Given the description of an element on the screen output the (x, y) to click on. 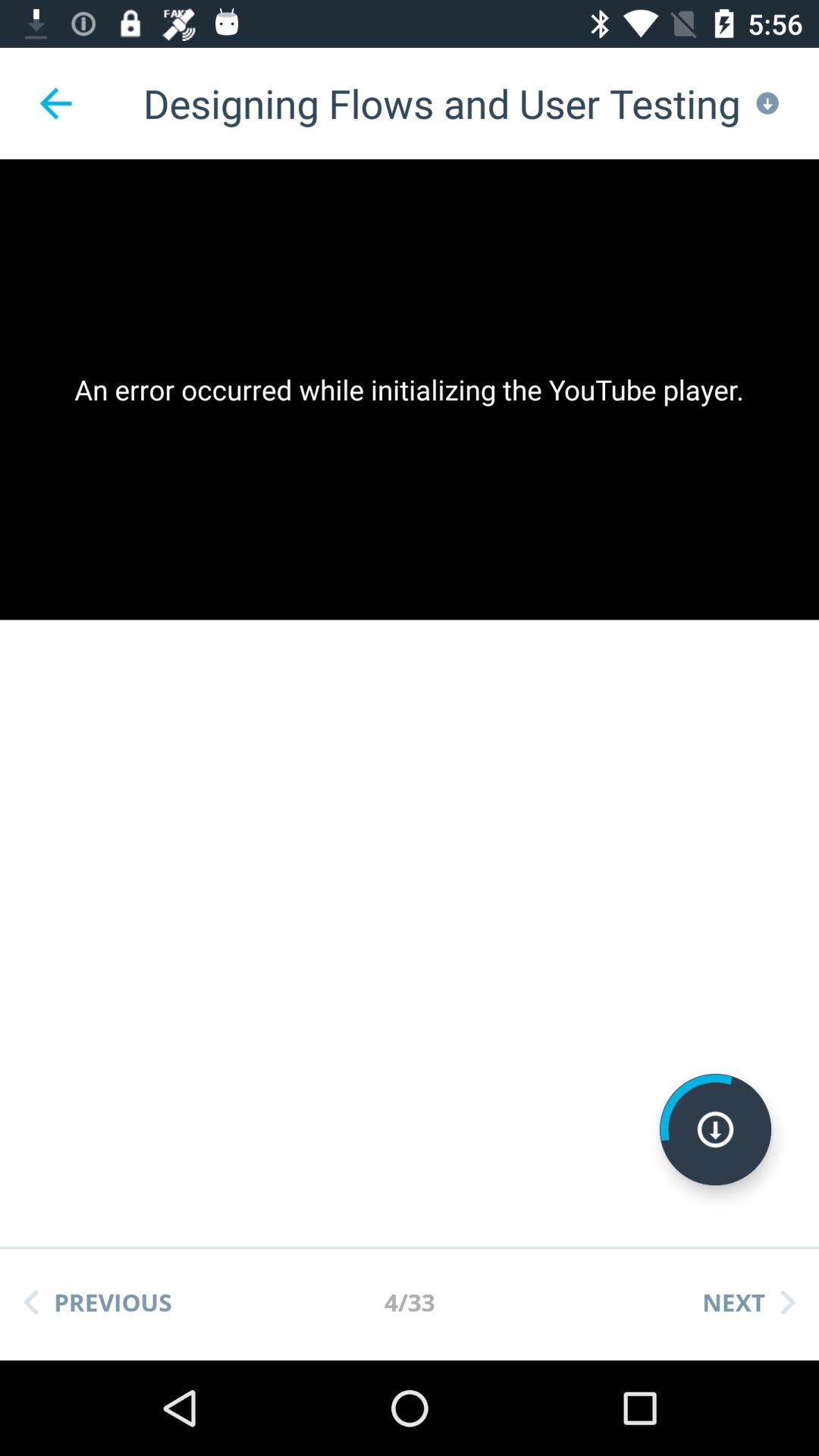
launch icon at the bottom left corner (97, 1302)
